Given the description of an element on the screen output the (x, y) to click on. 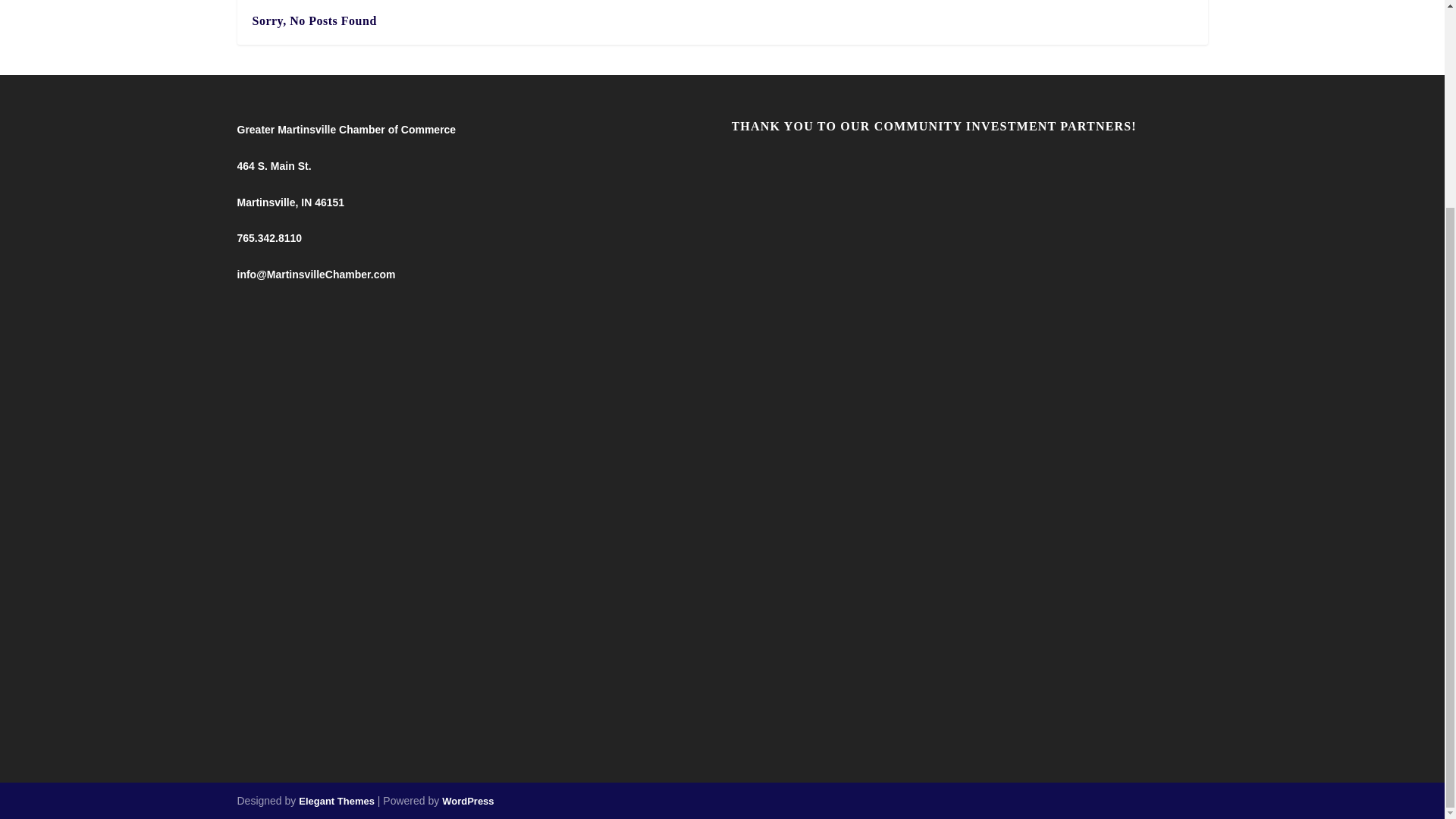
Premium WordPress Themes (336, 800)
WordPress (467, 800)
Elegant Themes (336, 800)
